Given the description of an element on the screen output the (x, y) to click on. 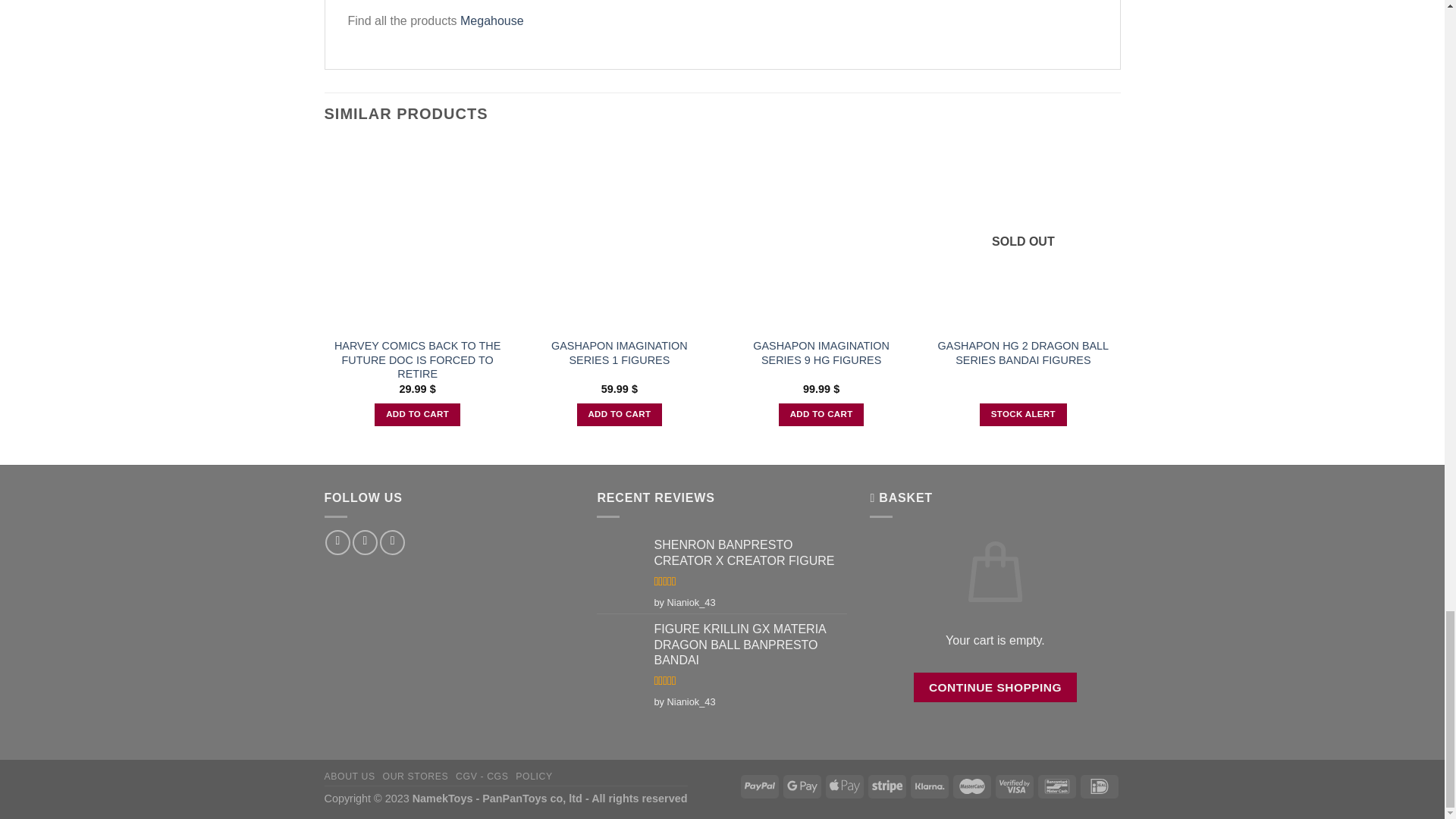
Follow us on Twitter (392, 542)
Follow us on Instagram (364, 542)
Follow us on Facebook (337, 542)
